Given the description of an element on the screen output the (x, y) to click on. 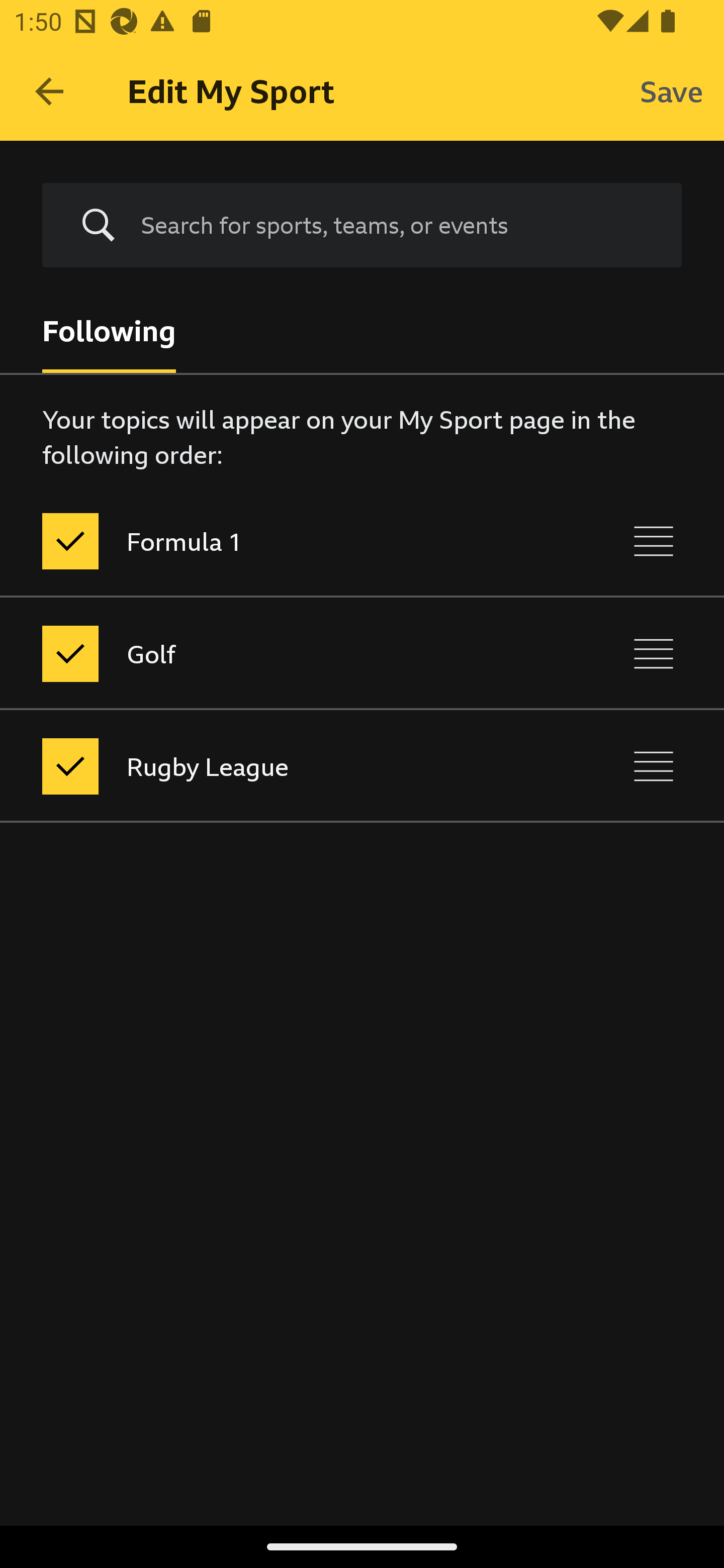
Navigate up (49, 91)
Save (671, 90)
Search for sports, teams, or events (361, 225)
Search for sports, teams, or events (396, 224)
Formula 1 (277, 540)
Reorder Formula 1 (653, 540)
Golf (277, 653)
Reorder Golf (653, 653)
Rugby League (277, 766)
Reorder Rugby League (653, 766)
